Given the description of an element on the screen output the (x, y) to click on. 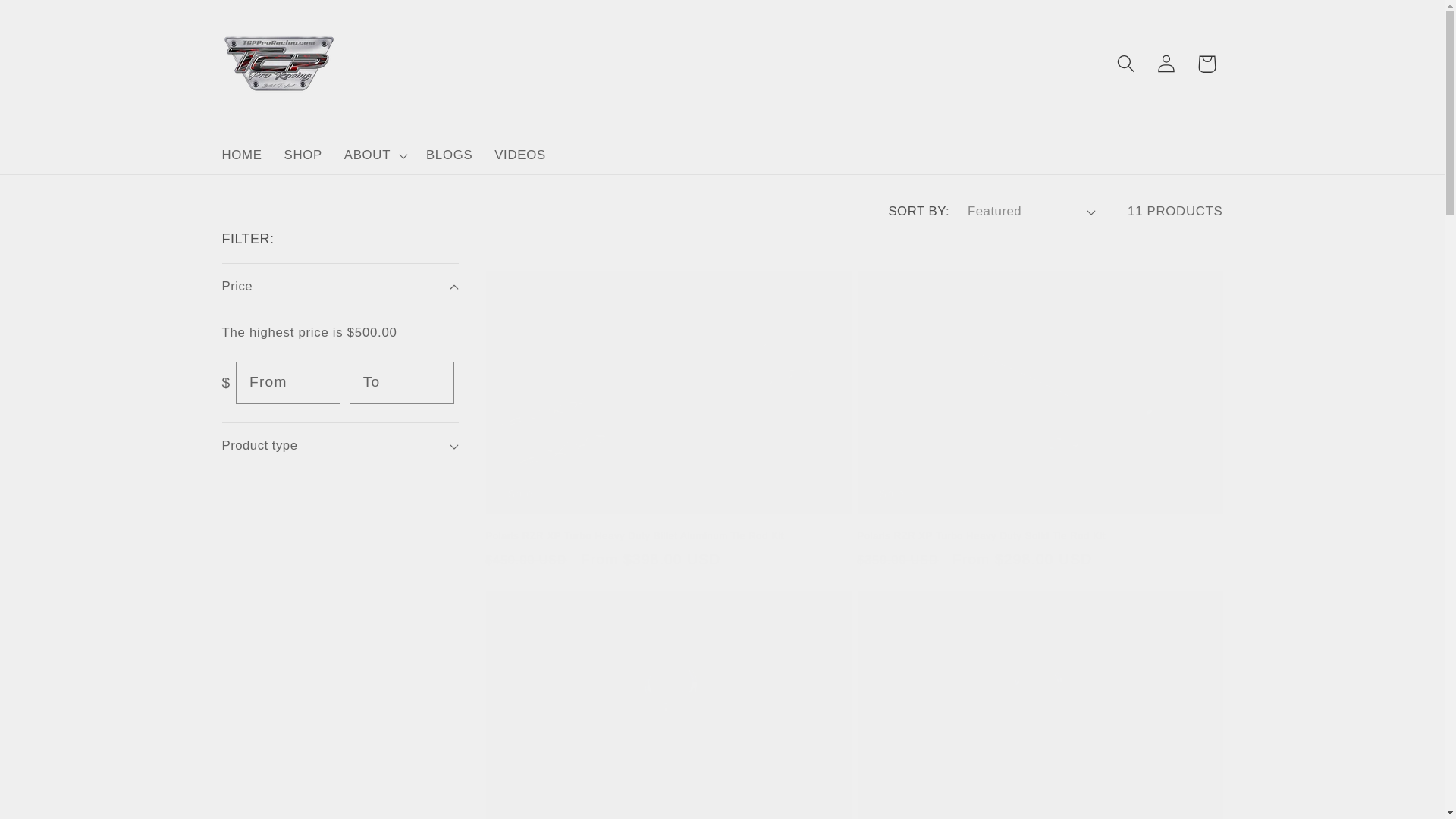
VIDEOS (520, 156)
Cart (1205, 64)
HOME (242, 156)
Skip to content (55, 20)
BLOGS (448, 156)
Log in (1166, 64)
SHOP (303, 156)
